Given the description of an element on the screen output the (x, y) to click on. 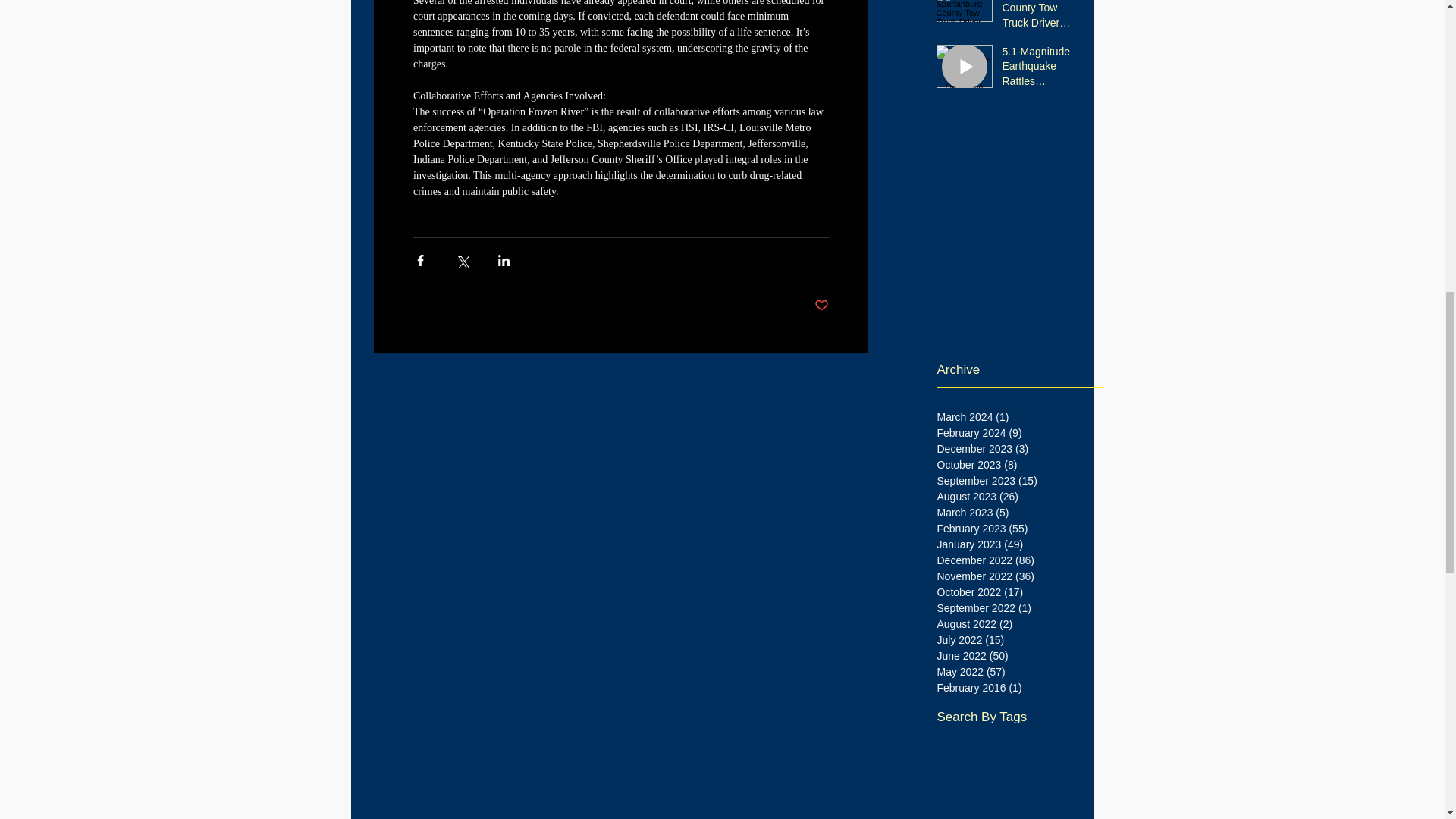
5.1-Magnitude Earthquake Rattles Oklahoma Late Friday Night (1043, 70)
Post not marked as liked (820, 305)
